Given the description of an element on the screen output the (x, y) to click on. 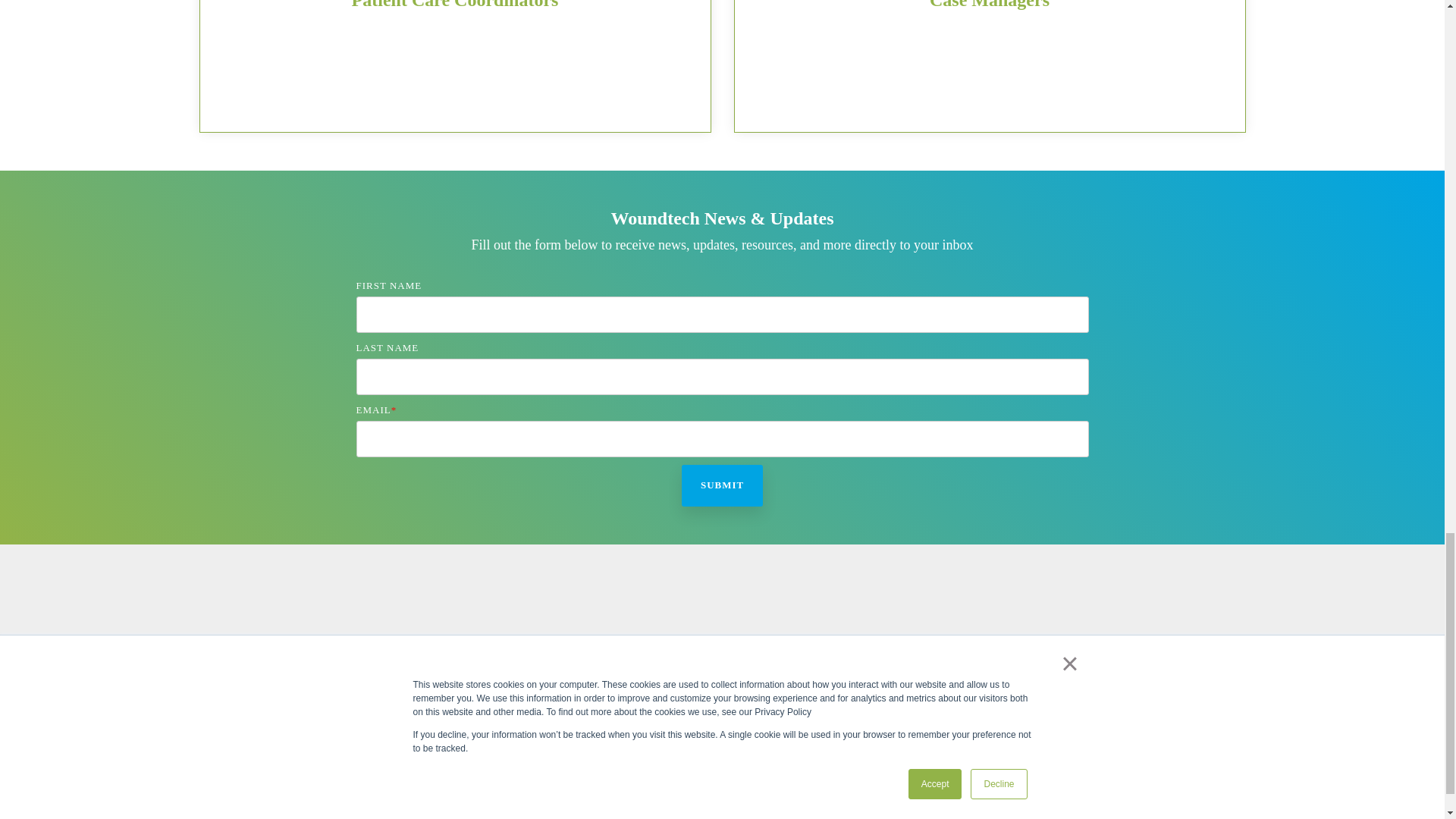
Submit (721, 485)
Submit (721, 485)
